Given the description of an element on the screen output the (x, y) to click on. 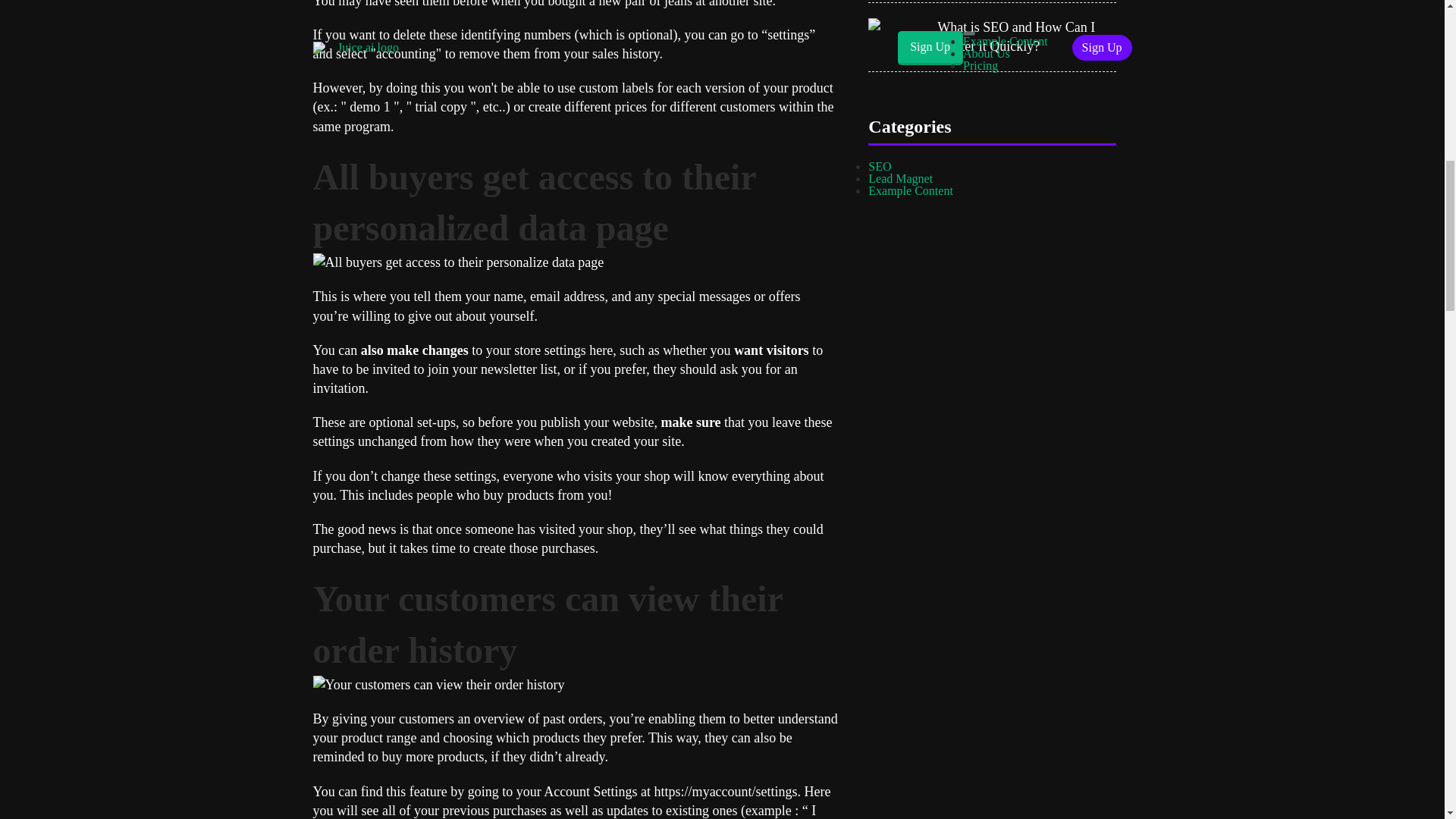
Lead Magnet (900, 178)
What is SEO and How Can I Master it Quickly? (1026, 37)
Example Content (910, 190)
SEO (879, 165)
